Given the description of an element on the screen output the (x, y) to click on. 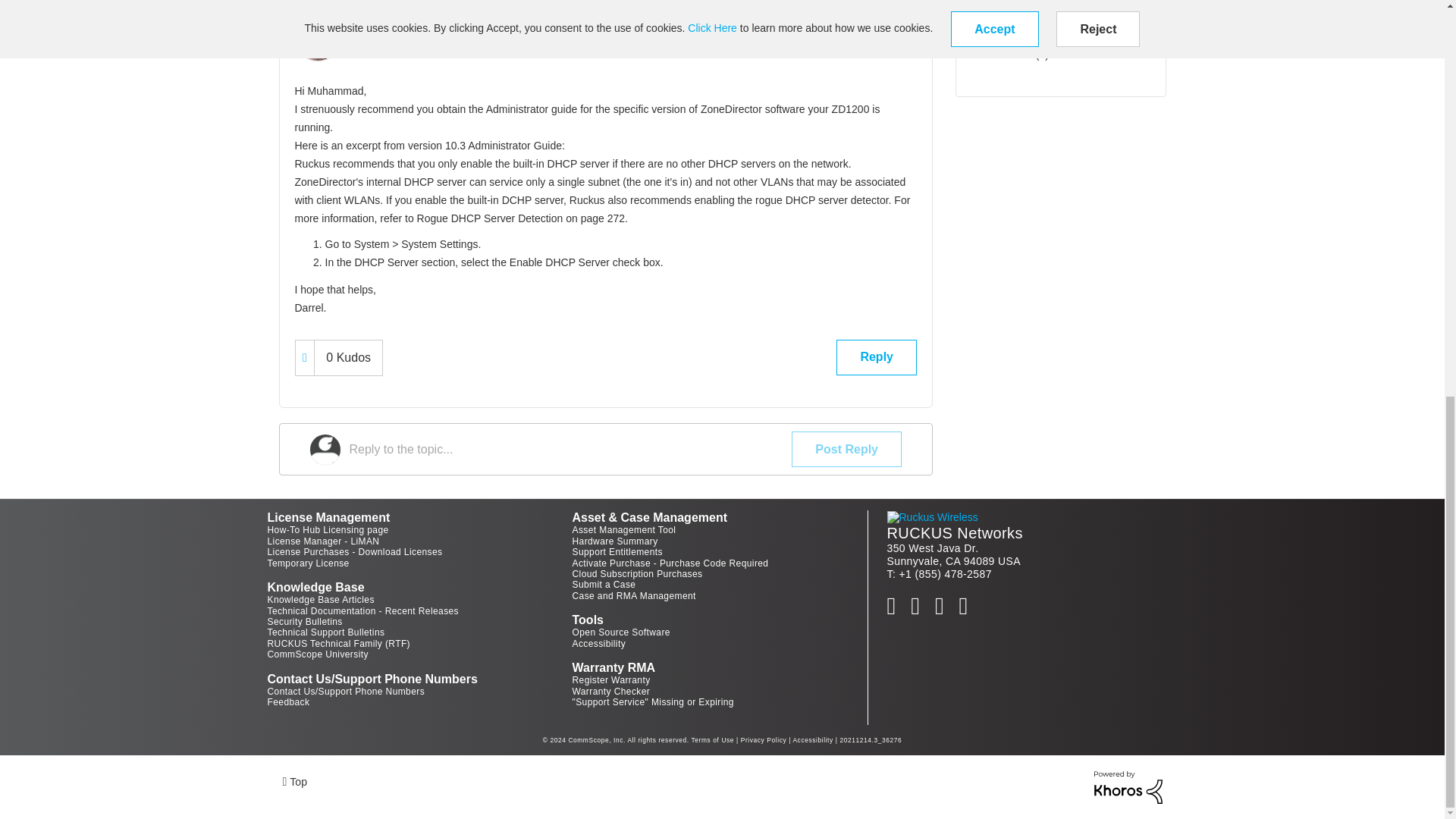
The total number of kudos this post has received. (347, 357)
Top (293, 780)
DarrelRhodes (316, 38)
Top (293, 780)
Page 295 (605, 212)
